Given the description of an element on the screen output the (x, y) to click on. 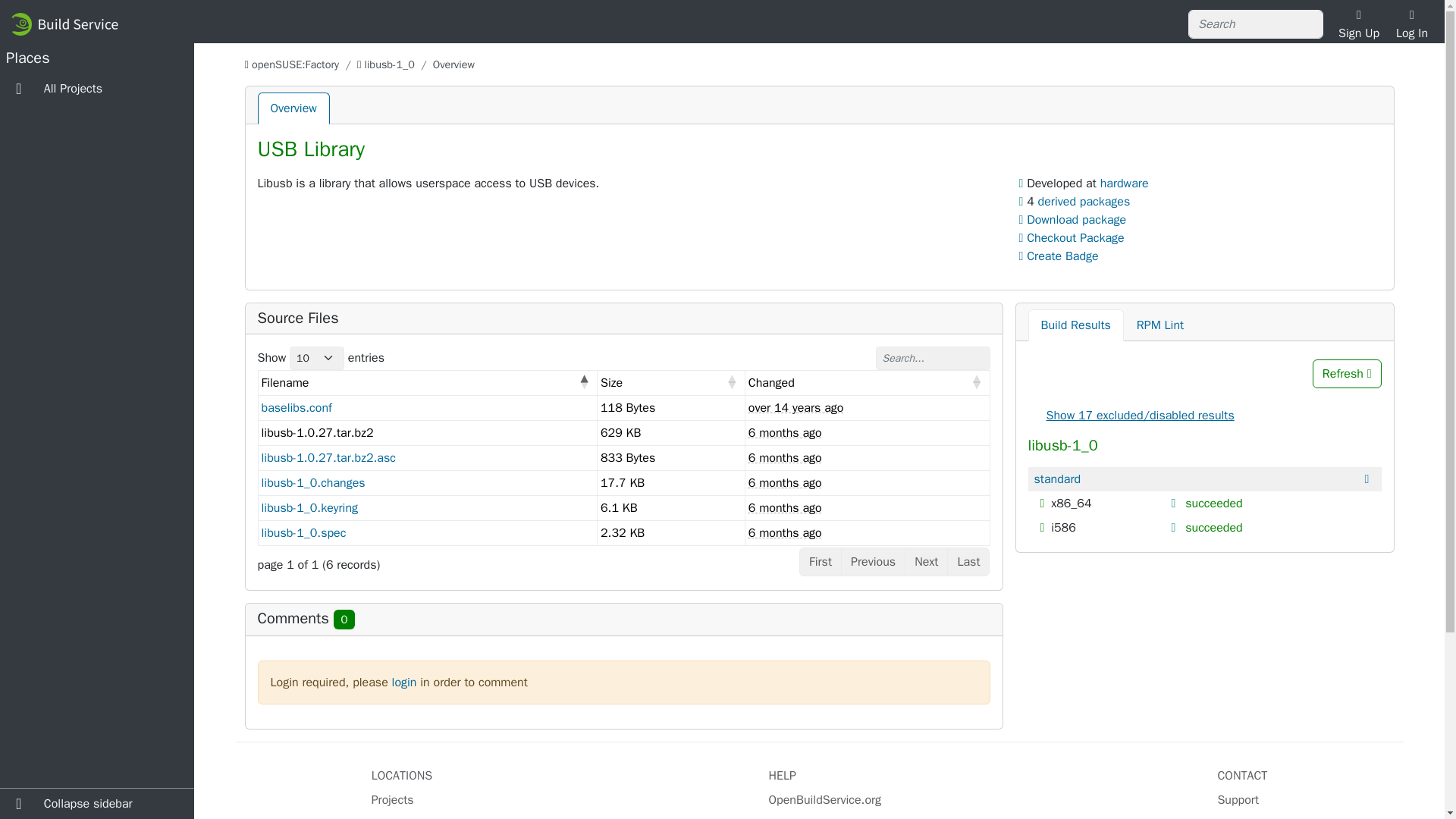
Sign Up (1358, 23)
Download package (1075, 219)
2024-02-01 10:07 UTC (785, 532)
Overview (293, 108)
derived packages (1084, 201)
Last (968, 561)
2024-02-01 10:07 UTC (785, 432)
standard (1057, 479)
succeeded (1213, 527)
openSUSE:Factory (295, 64)
Refresh Build Results (1347, 373)
hardware (1124, 183)
Previous (873, 561)
Click to keep it open (1175, 503)
Checkout Package (1071, 237)
